Given the description of an element on the screen output the (x, y) to click on. 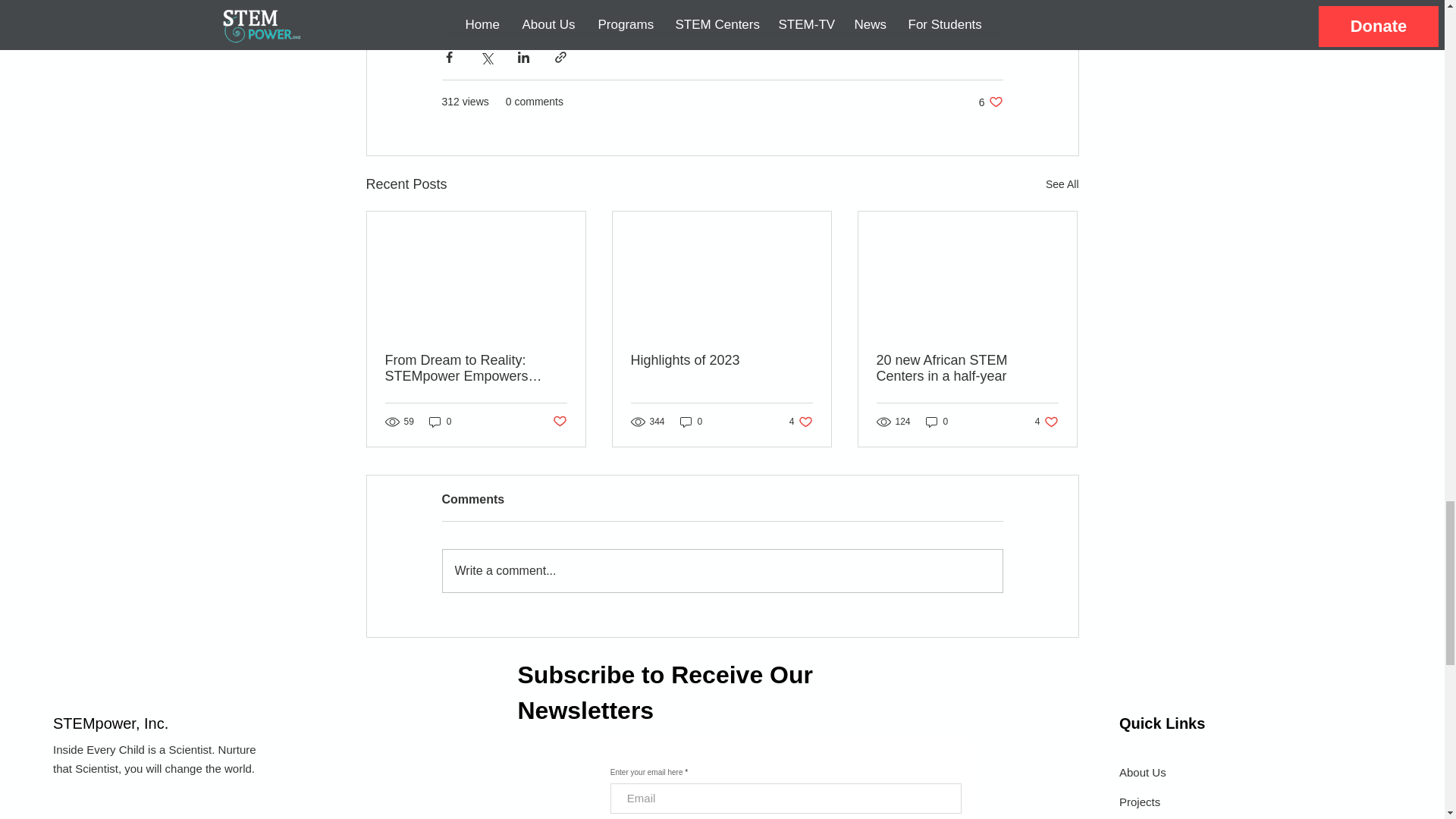
0 (440, 421)
See All (1061, 184)
20 new African STEM Centers in a half-year (967, 368)
0 (691, 421)
Highlights of 2023 (990, 101)
Post not marked as liked (800, 421)
